Given the description of an element on the screen output the (x, y) to click on. 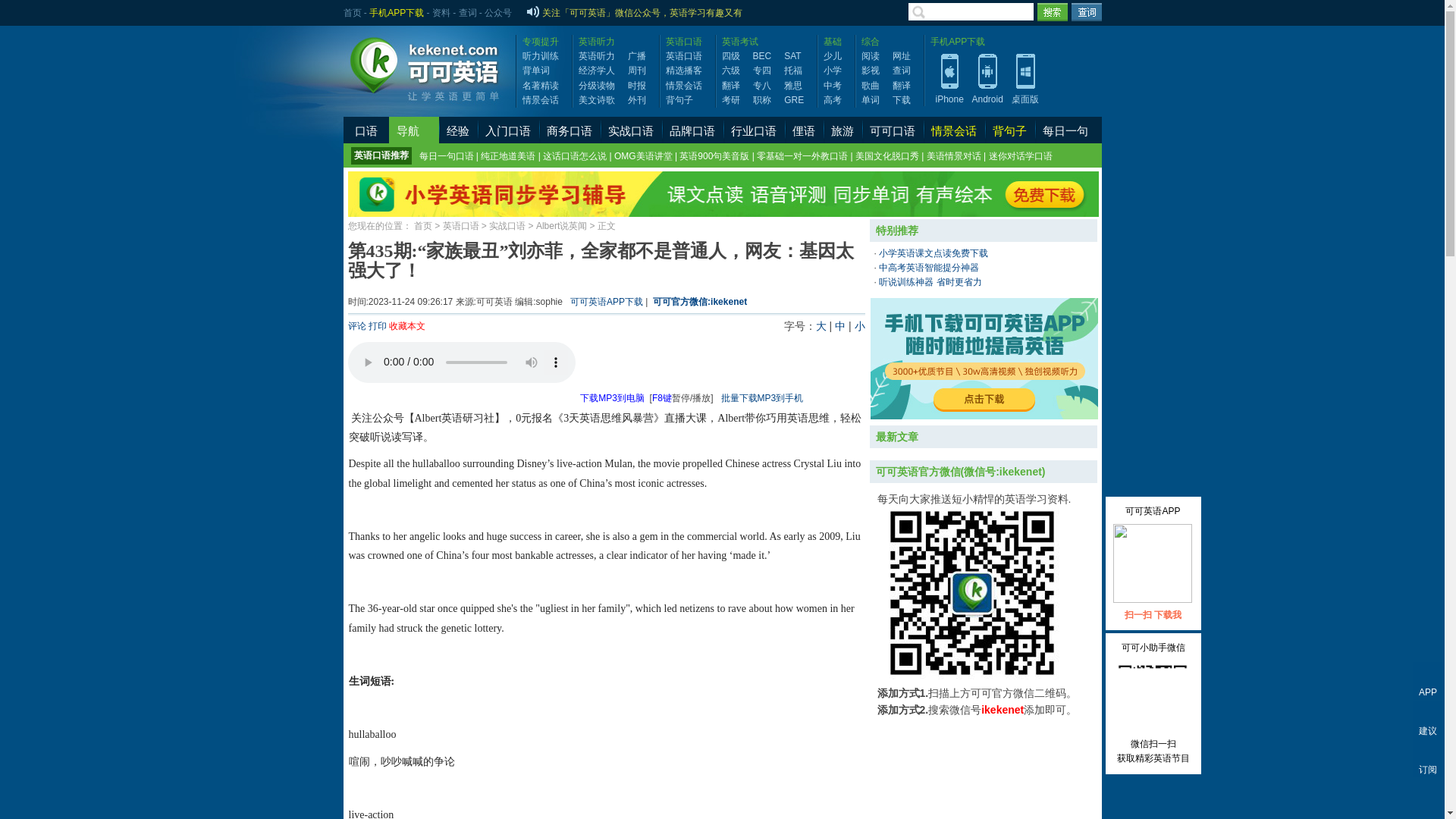
SAT (792, 55)
BEC (761, 55)
GRE (793, 100)
